Given the description of an element on the screen output the (x, y) to click on. 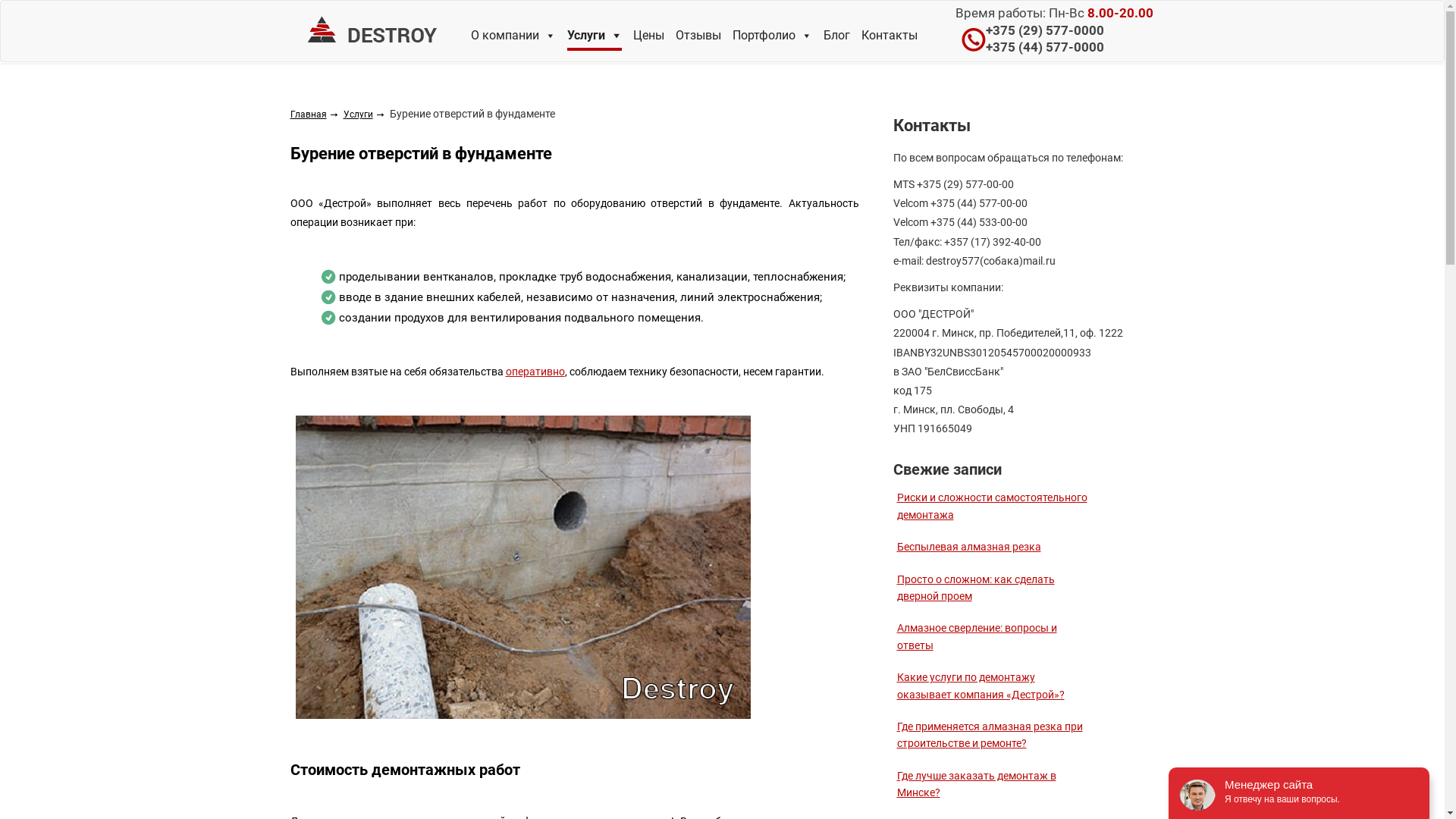
+375 (44) 577-0000 Element type: text (1044, 46)
+375 (29) 577-0000 Element type: text (1044, 29)
